Given the description of an element on the screen output the (x, y) to click on. 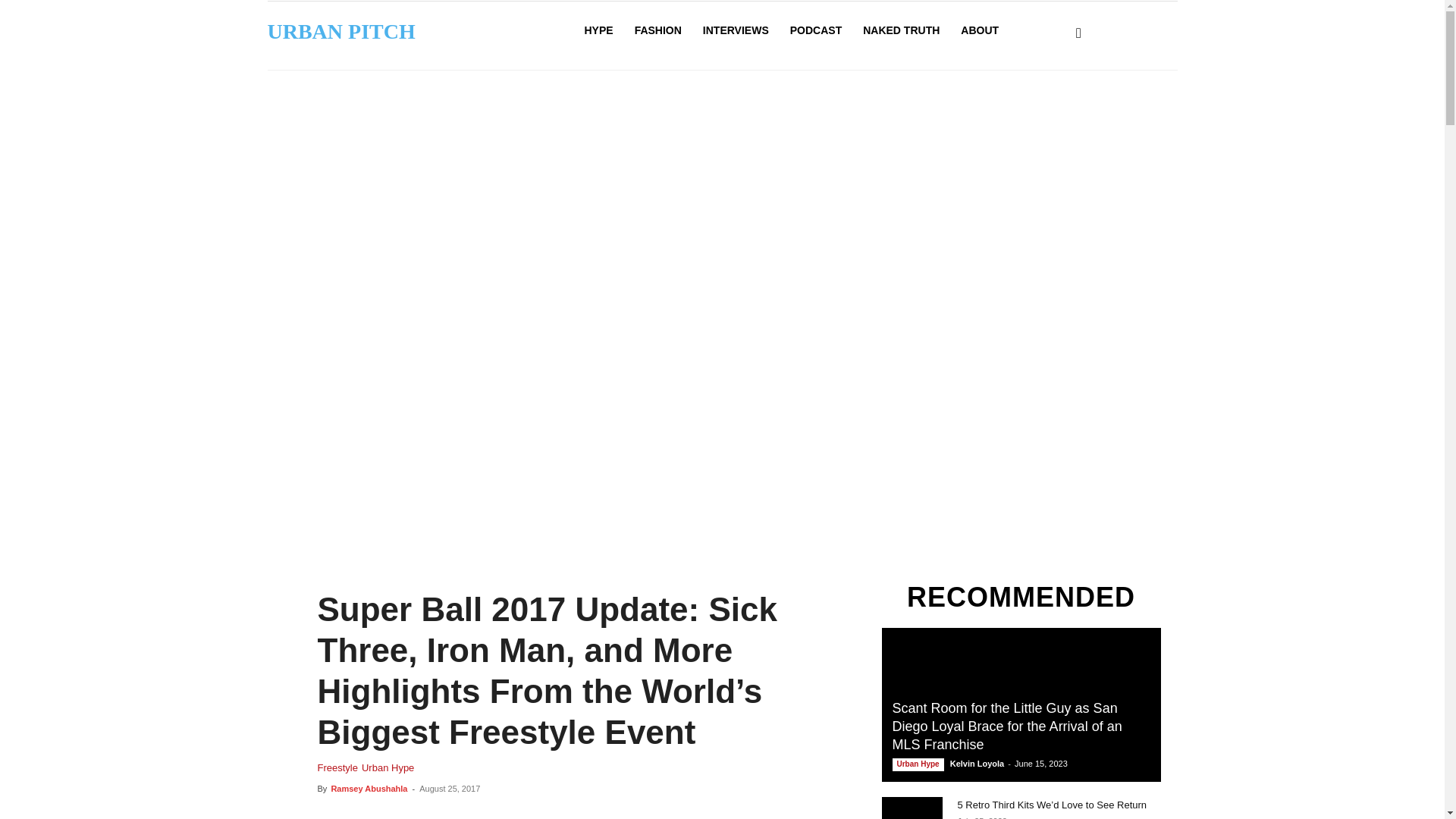
INTERVIEWS (735, 30)
HYPE (598, 30)
FASHION (658, 30)
Freestyle (336, 767)
Ramsey Abushahla (368, 788)
Search (1085, 51)
PODCAST (814, 30)
NAKED TRUTH (900, 30)
ABOUT (979, 30)
Urban Hype (387, 767)
